Given the description of an element on the screen output the (x, y) to click on. 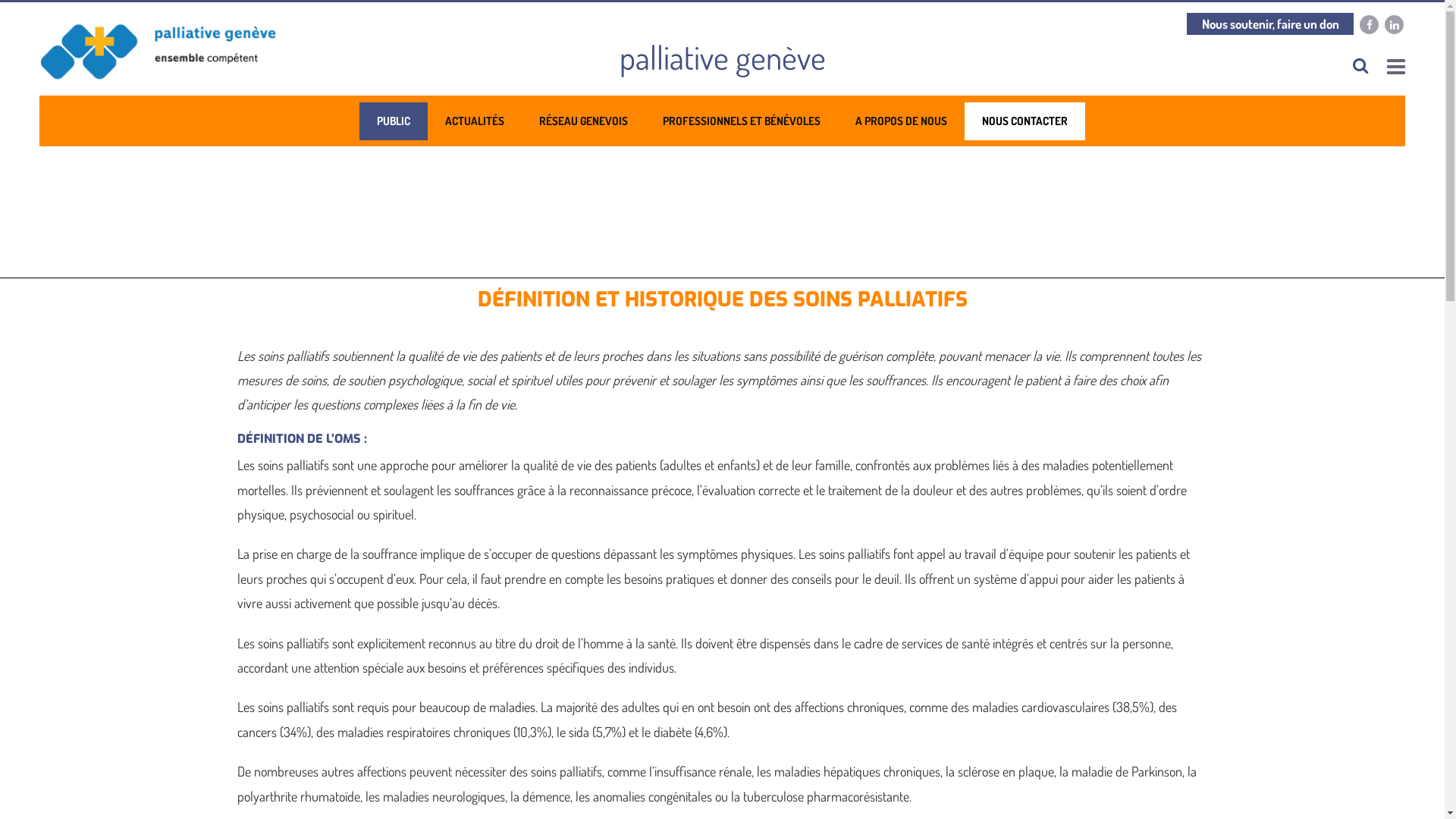
PUBLIC Element type: text (393, 121)
A PROPOS DE NOUS Element type: text (900, 121)
Nous soutenir, faire un don Element type: text (1269, 23)
NOUS CONTACTER Element type: text (1024, 121)
